Given the description of an element on the screen output the (x, y) to click on. 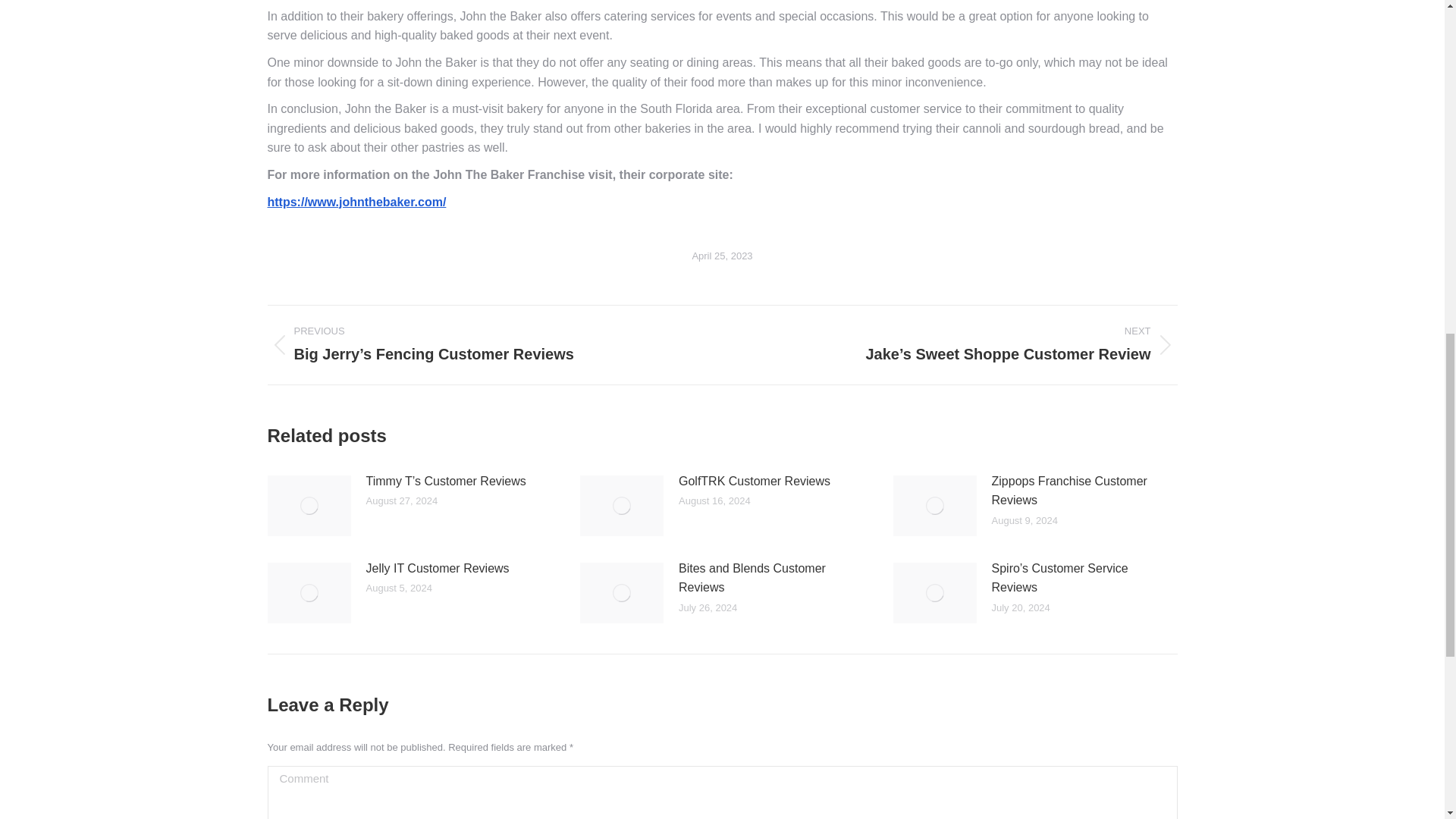
April 25, 2023 (721, 255)
Bites and Blends Customer Reviews (767, 577)
GolfTRK Customer Reviews (753, 481)
4:05 pm (721, 255)
Jelly IT Customer Reviews (436, 567)
Zippops Franchise Customer Reviews (1080, 490)
